Given the description of an element on the screen output the (x, y) to click on. 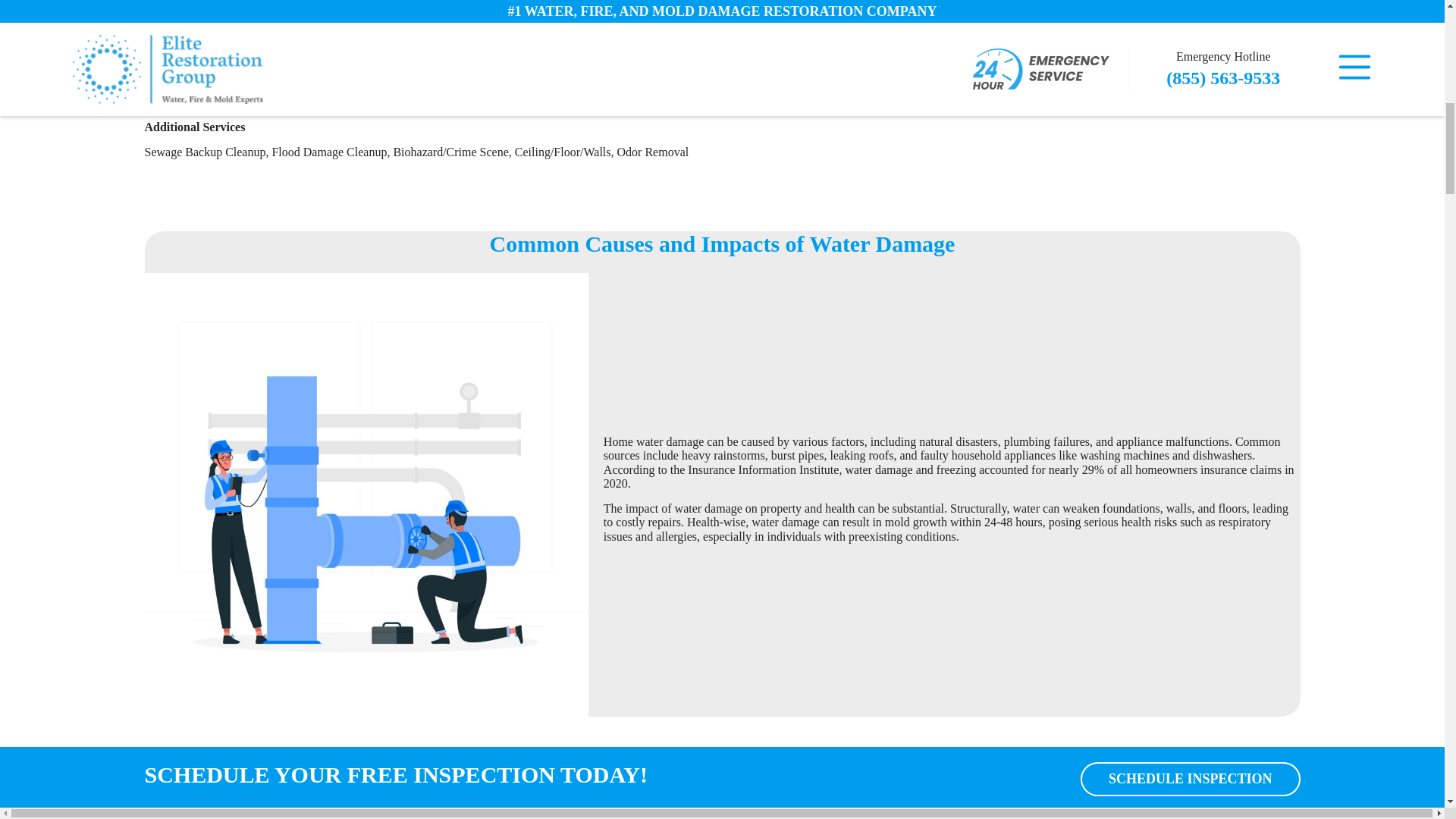
SCHEDULE INSPECTION (1190, 779)
